Given the description of an element on the screen output the (x, y) to click on. 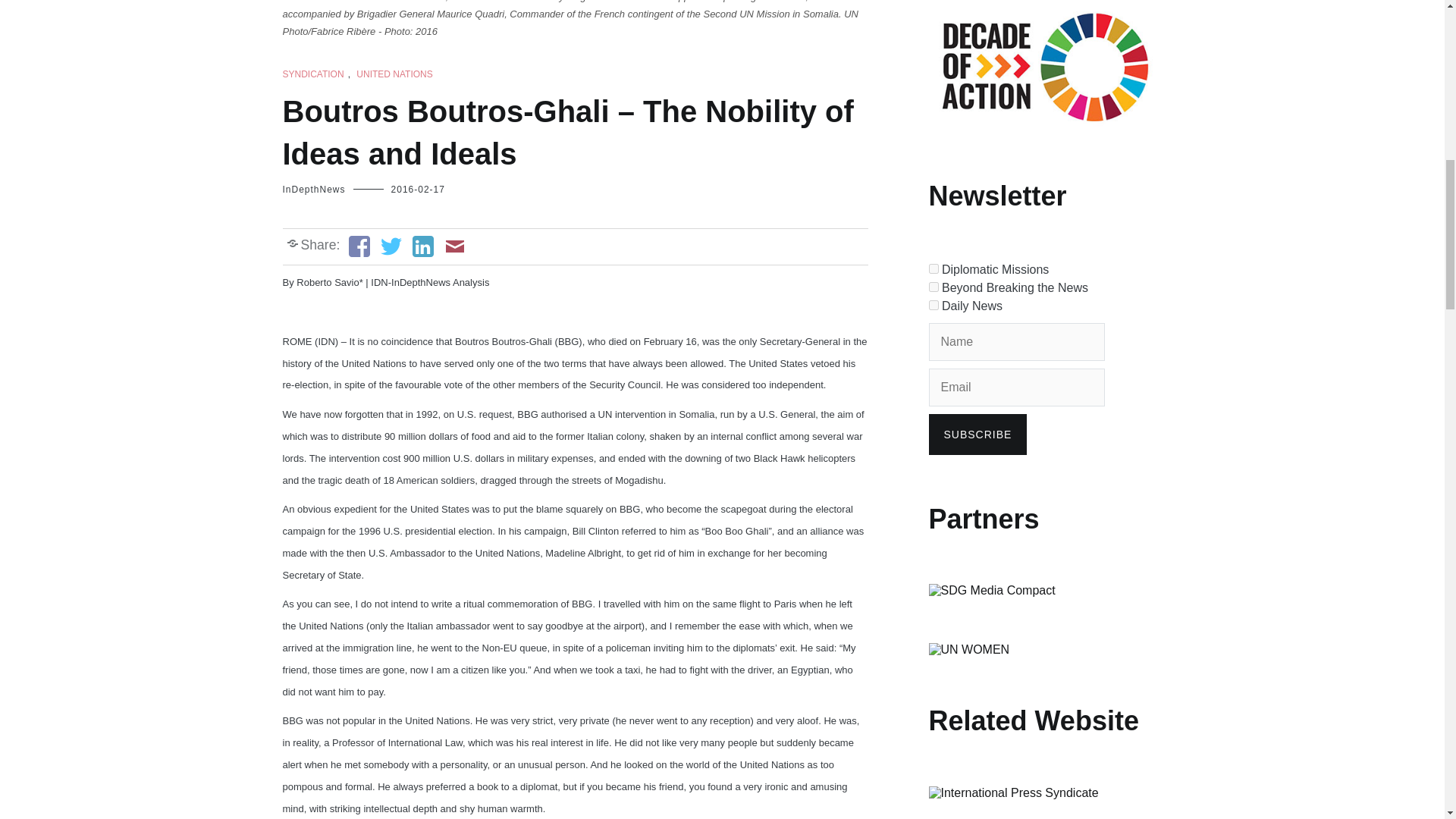
8 (932, 268)
10 (932, 305)
9 (932, 286)
Subscribe (977, 434)
